Given the description of an element on the screen output the (x, y) to click on. 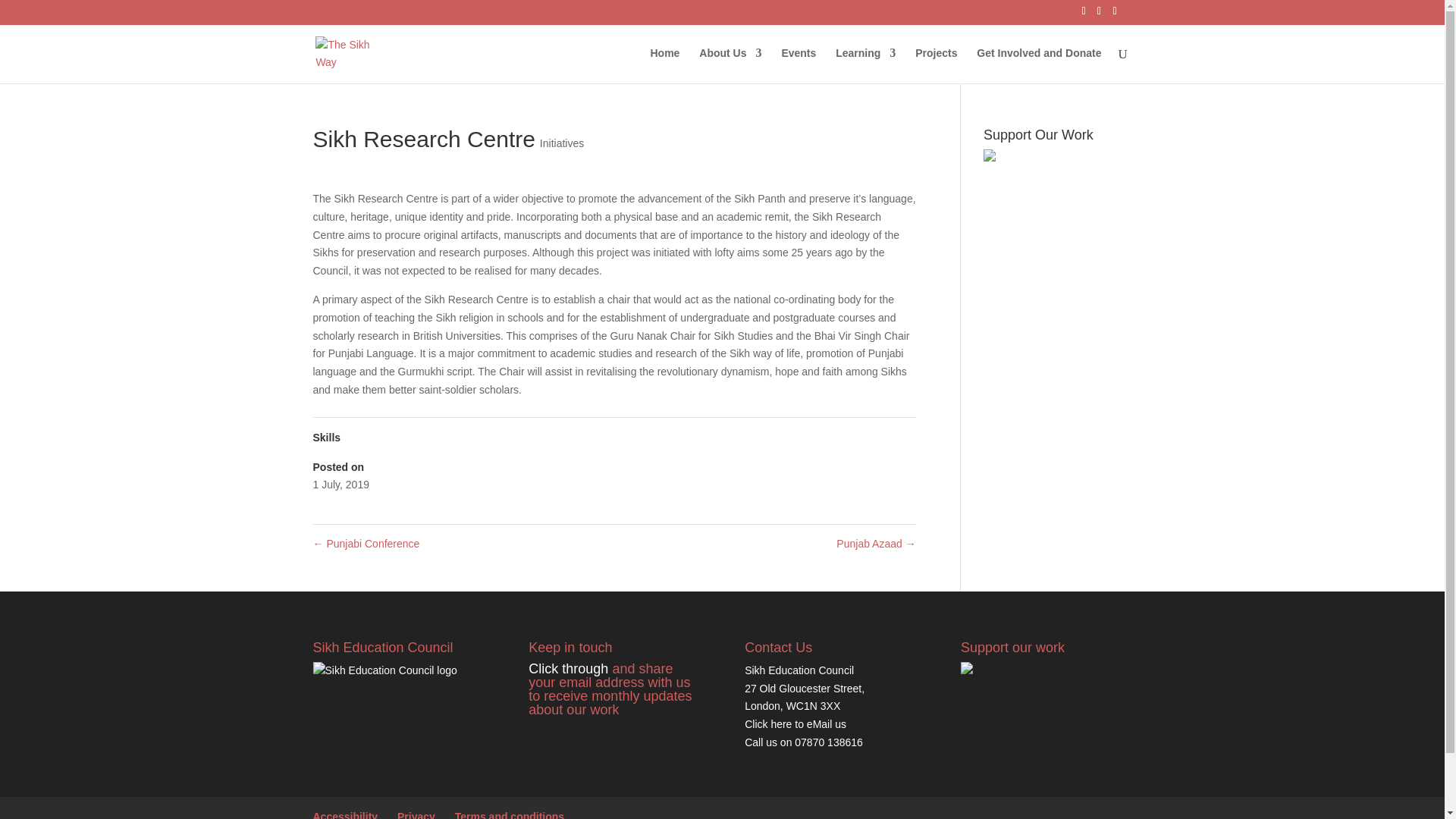
Click through (568, 668)
About Us (729, 65)
Privacy (416, 814)
Accessibility (345, 814)
Learning (865, 65)
Initiatives (561, 143)
Terms and conditions (509, 814)
Get Involved and Donate (1038, 65)
Projects (935, 65)
Click here to eMail us (794, 724)
